Given the description of an element on the screen output the (x, y) to click on. 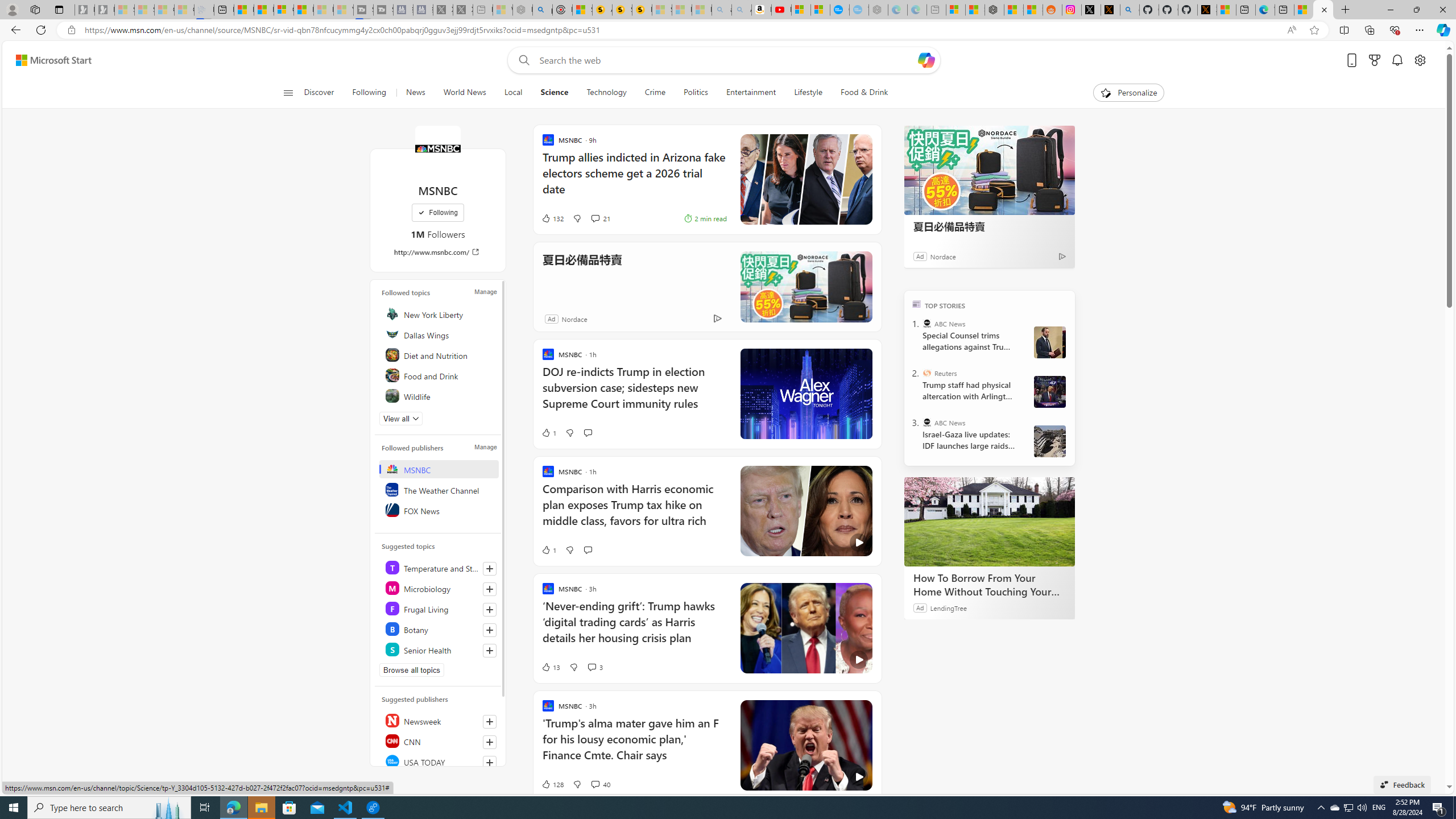
Open navigation menu (287, 92)
World News (464, 92)
